Given the description of an element on the screen output the (x, y) to click on. 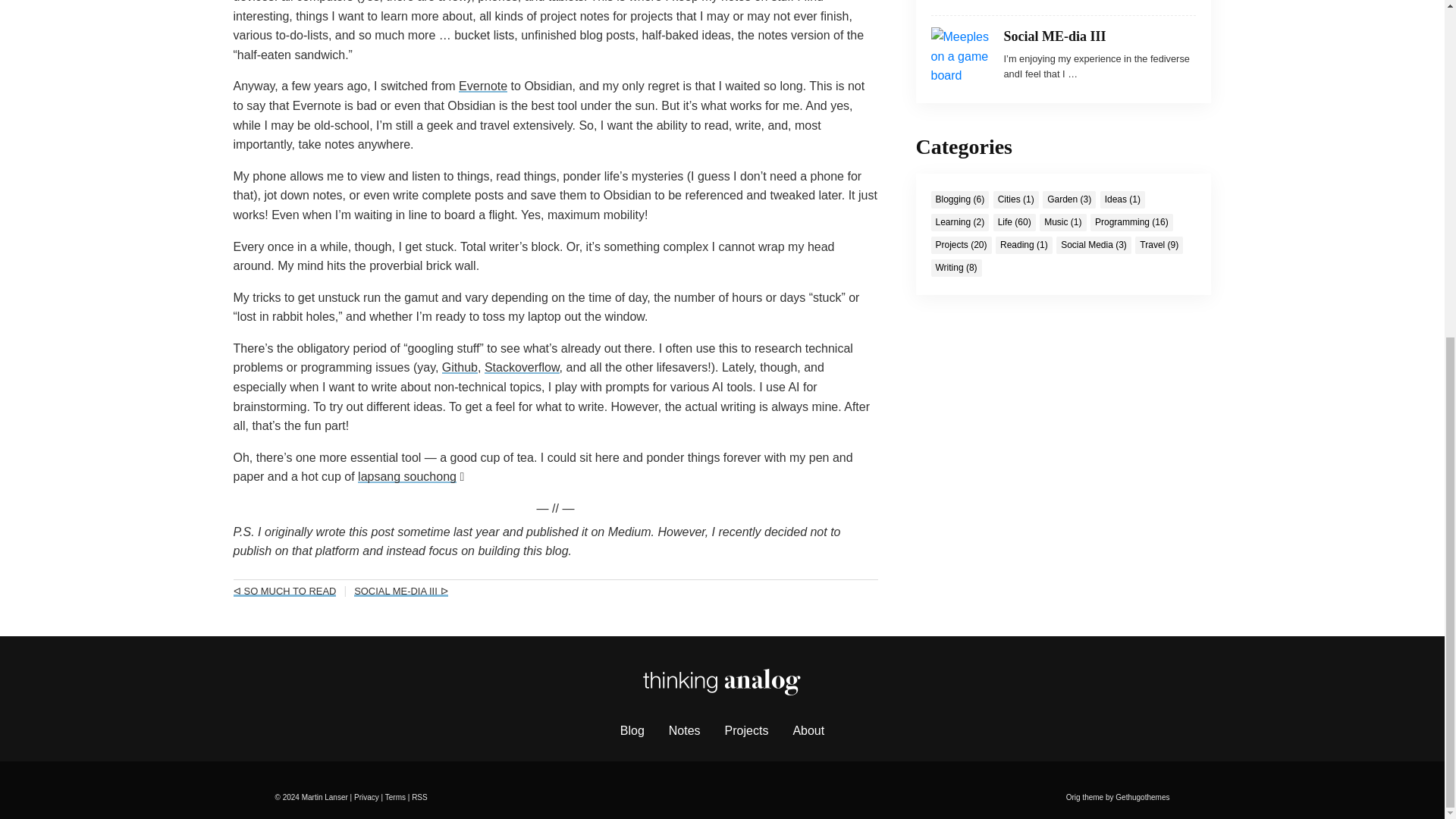
Github (459, 367)
SOCIAL ME-DIA III (400, 591)
SO MUCH TO READ (284, 591)
lapsang souchong (407, 476)
Stackoverflow (521, 367)
Evernote (482, 85)
